Given the description of an element on the screen output the (x, y) to click on. 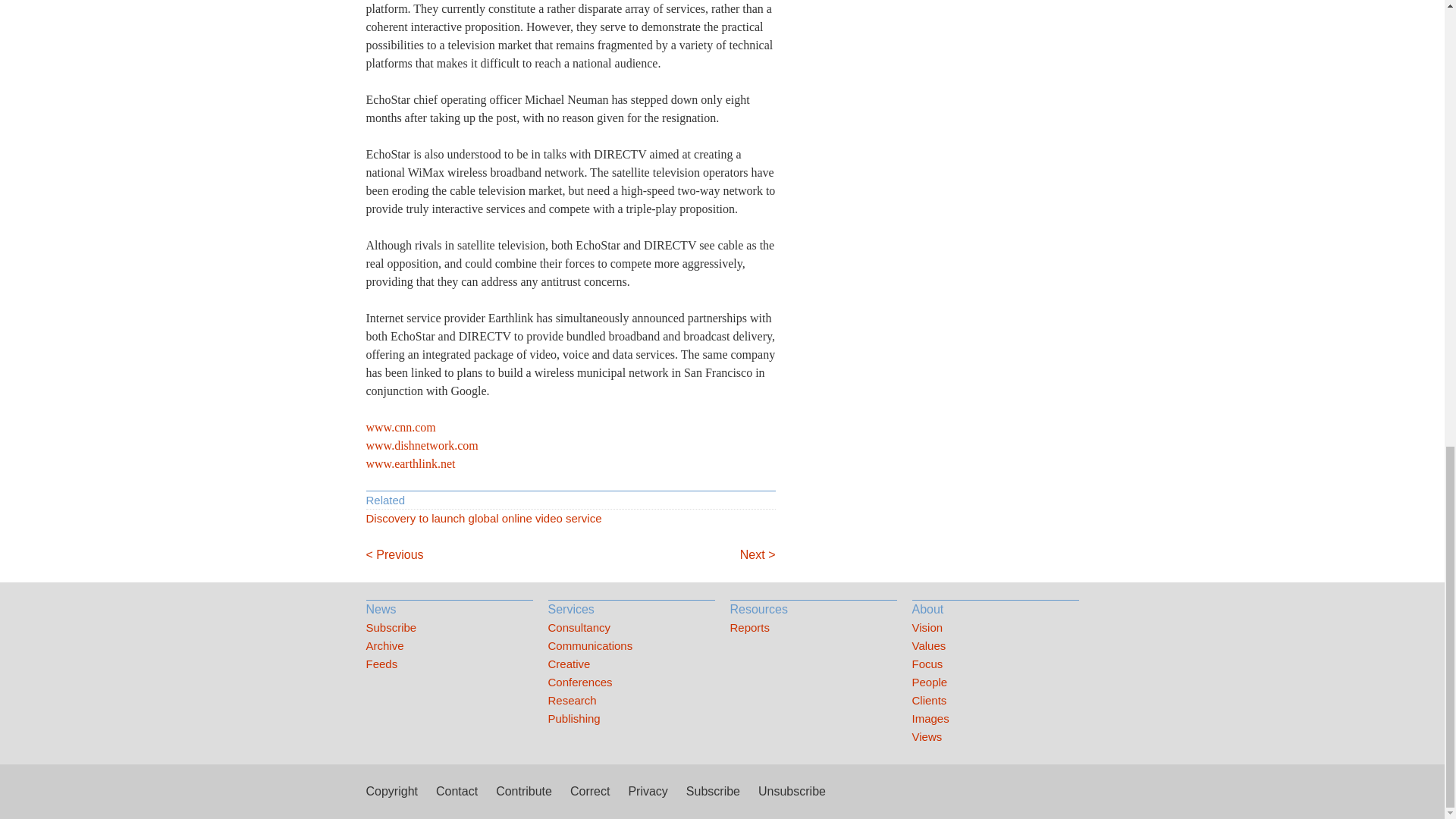
Dish Network web site (421, 445)
Subscribe (448, 628)
www.earthlink.net (409, 463)
Discovery to launch global online video service (569, 518)
CNN web site (400, 427)
www.dishnetwork.com (421, 445)
www.cnn.com (400, 427)
Earthlink web site (409, 463)
